Given the description of an element on the screen output the (x, y) to click on. 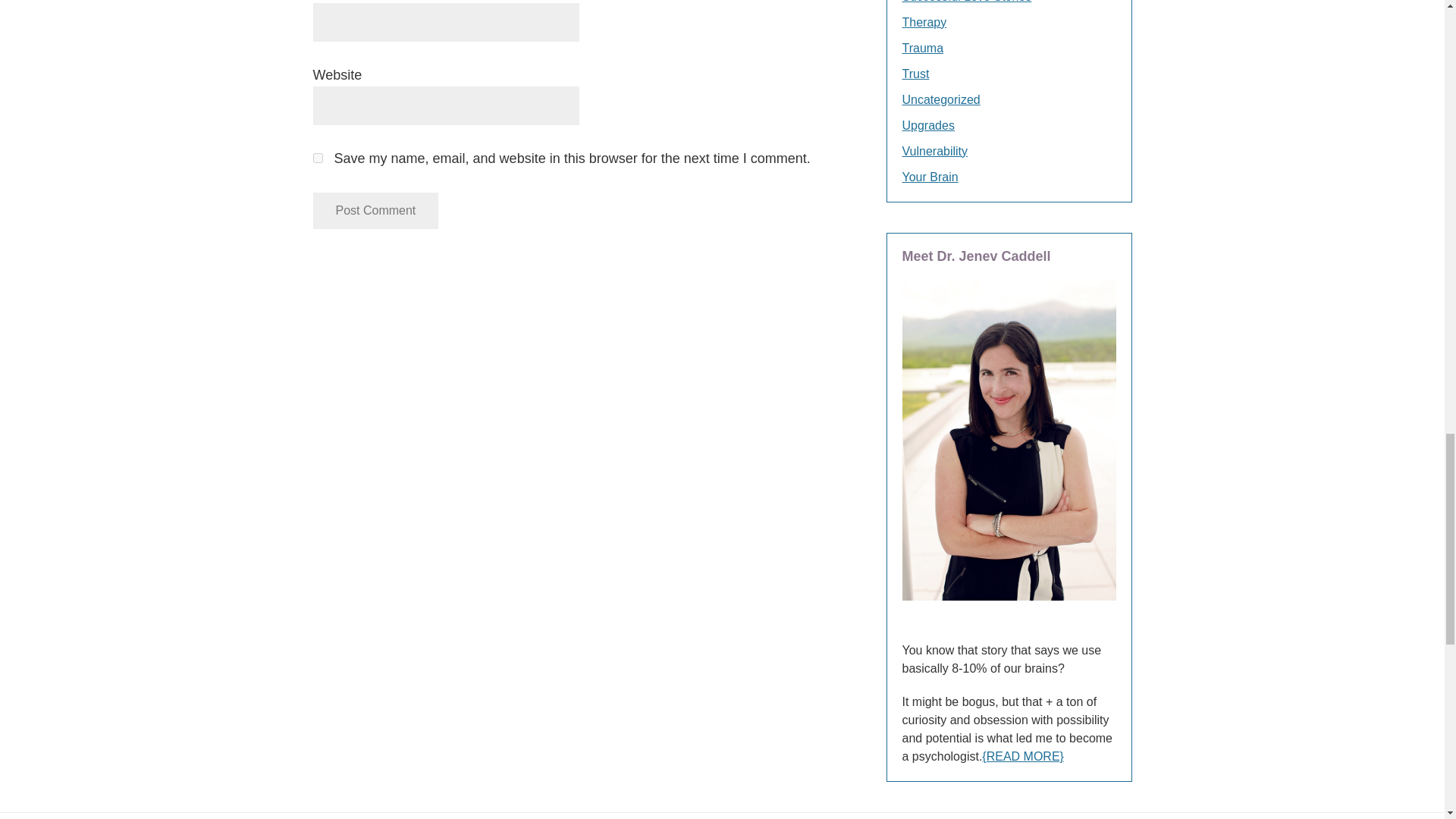
Post Comment (375, 210)
yes (317, 157)
Post Comment (375, 210)
